Given the description of an element on the screen output the (x, y) to click on. 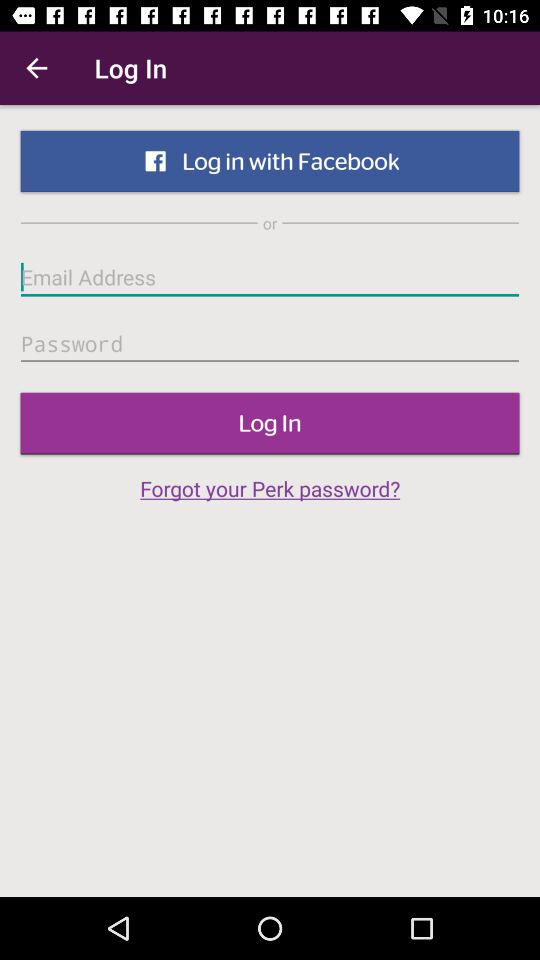
text field to enter e-mail address (269, 277)
